Given the description of an element on the screen output the (x, y) to click on. 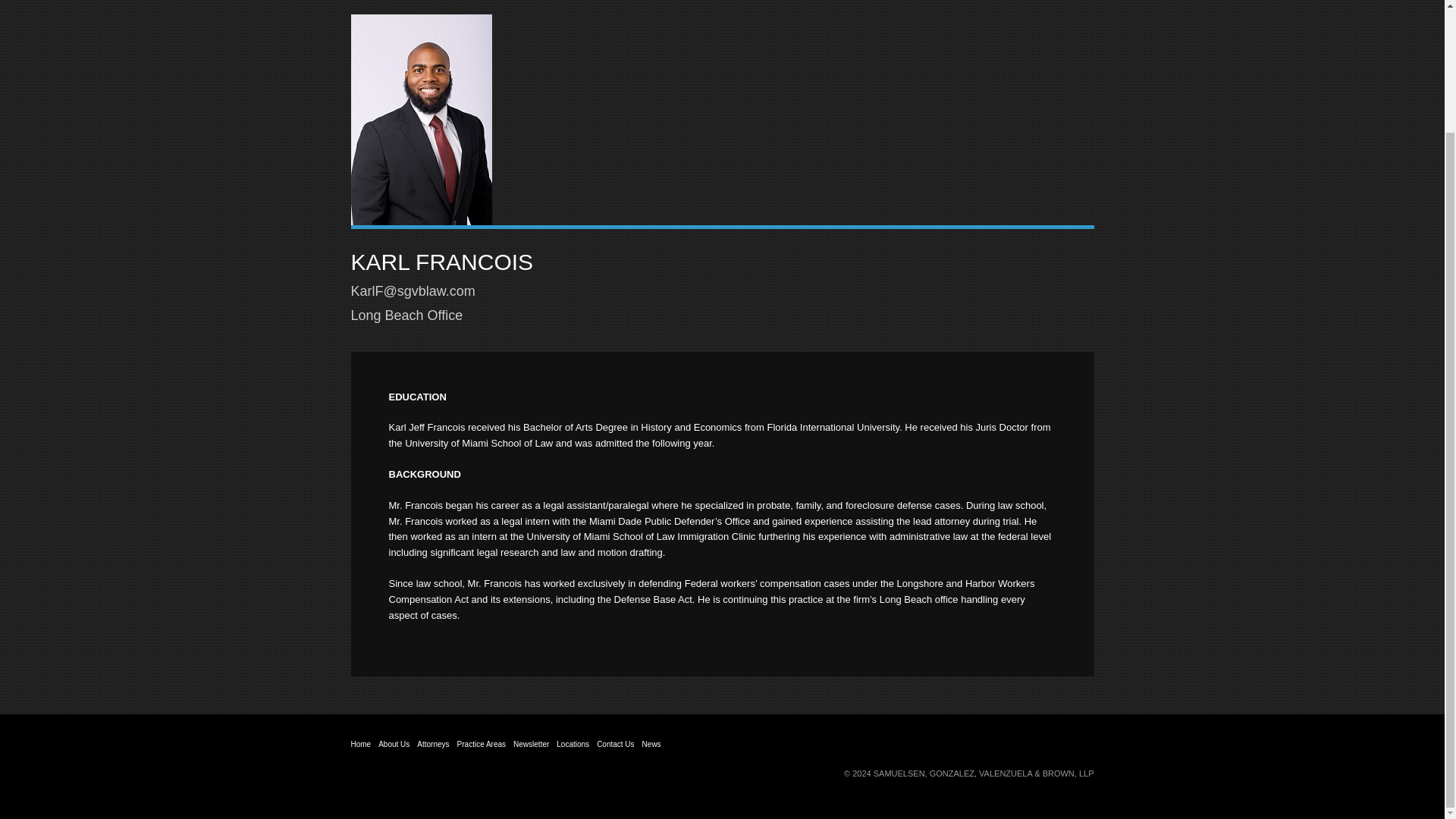
Practice Areas (481, 744)
News (651, 744)
Long Beach Office (406, 314)
About Us (393, 744)
Home (360, 744)
Attorneys (432, 744)
Newsletter (530, 744)
Contact Us (614, 744)
Locations (572, 744)
